Given the description of an element on the screen output the (x, y) to click on. 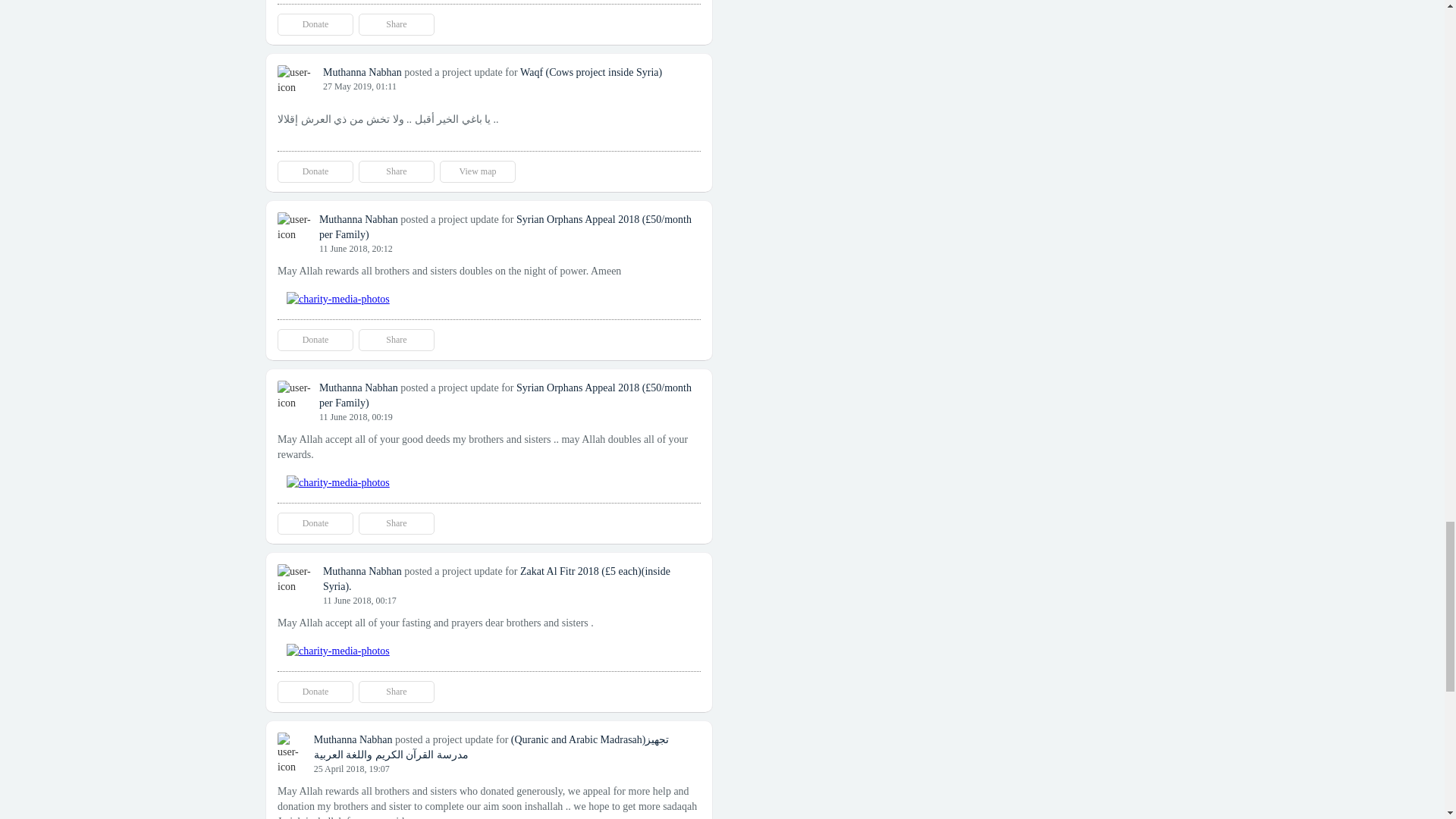
Share (395, 24)
View map (477, 171)
Donate (315, 24)
Share (395, 171)
Donate (315, 171)
